Given the description of an element on the screen output the (x, y) to click on. 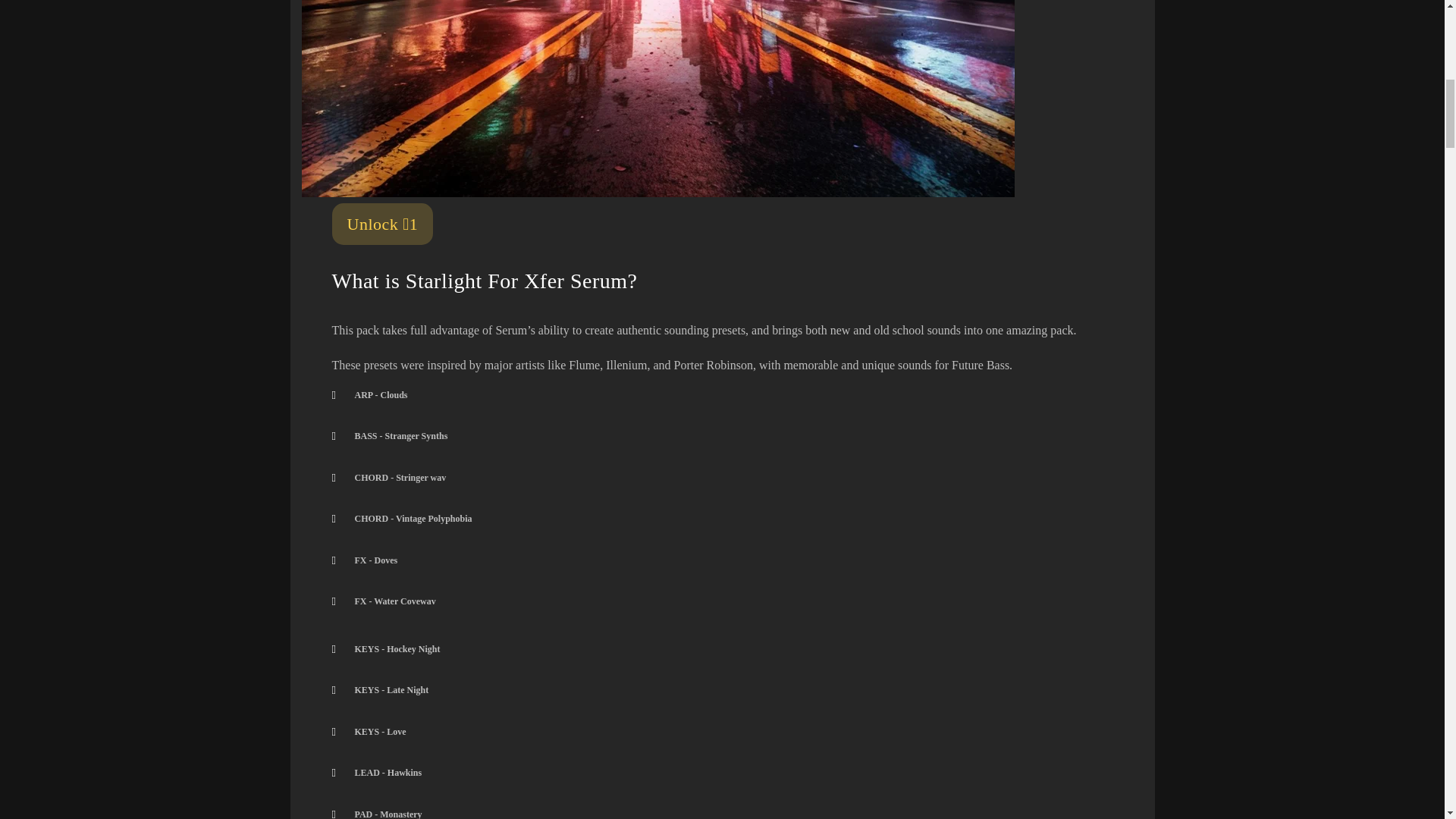
Unlock 1 (382, 223)
